Given the description of an element on the screen output the (x, y) to click on. 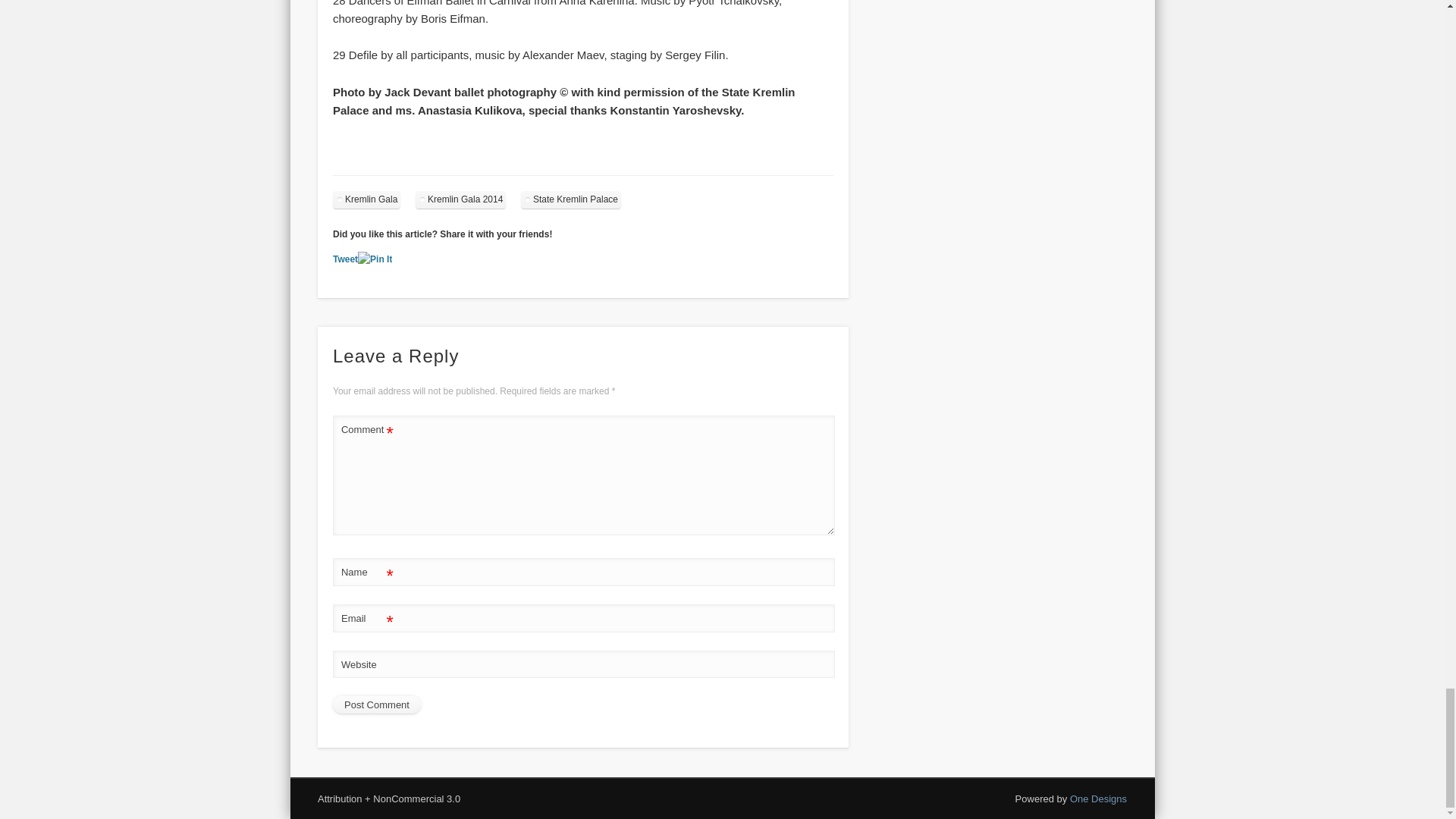
Post Comment (376, 705)
Kremlin Gala (366, 199)
Post Comment (376, 705)
Tweet (345, 258)
State Kremlin Palace (571, 199)
Kremlin Gala 2014 (459, 199)
